Given the description of an element on the screen output the (x, y) to click on. 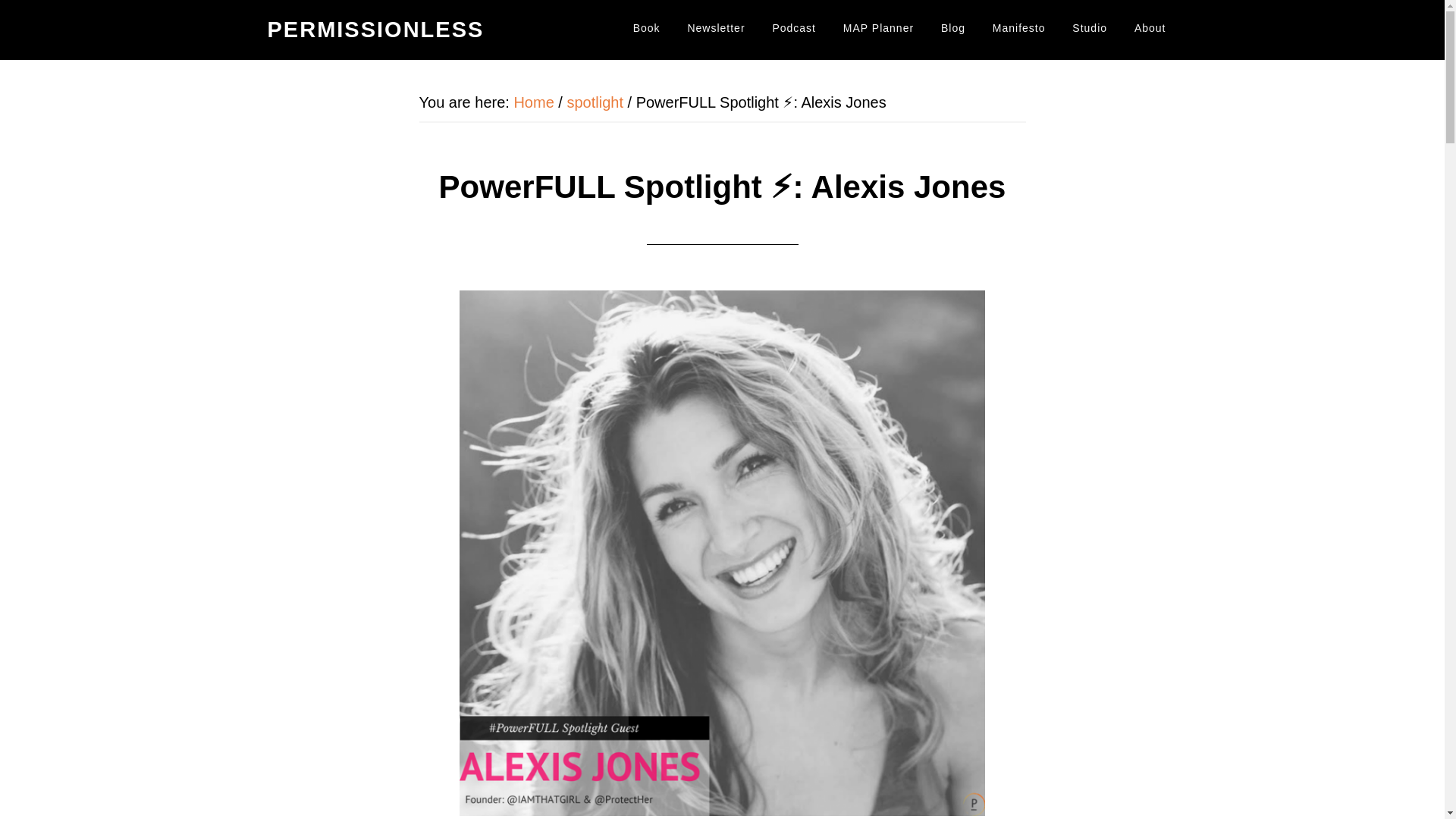
Studio (1089, 28)
PERMISSIONLESS (374, 29)
spotlight (594, 102)
About (1149, 28)
Home (533, 102)
Newsletter (715, 28)
Manifesto (1019, 28)
MAP Planner (877, 28)
Podcast (793, 28)
